Given the description of an element on the screen output the (x, y) to click on. 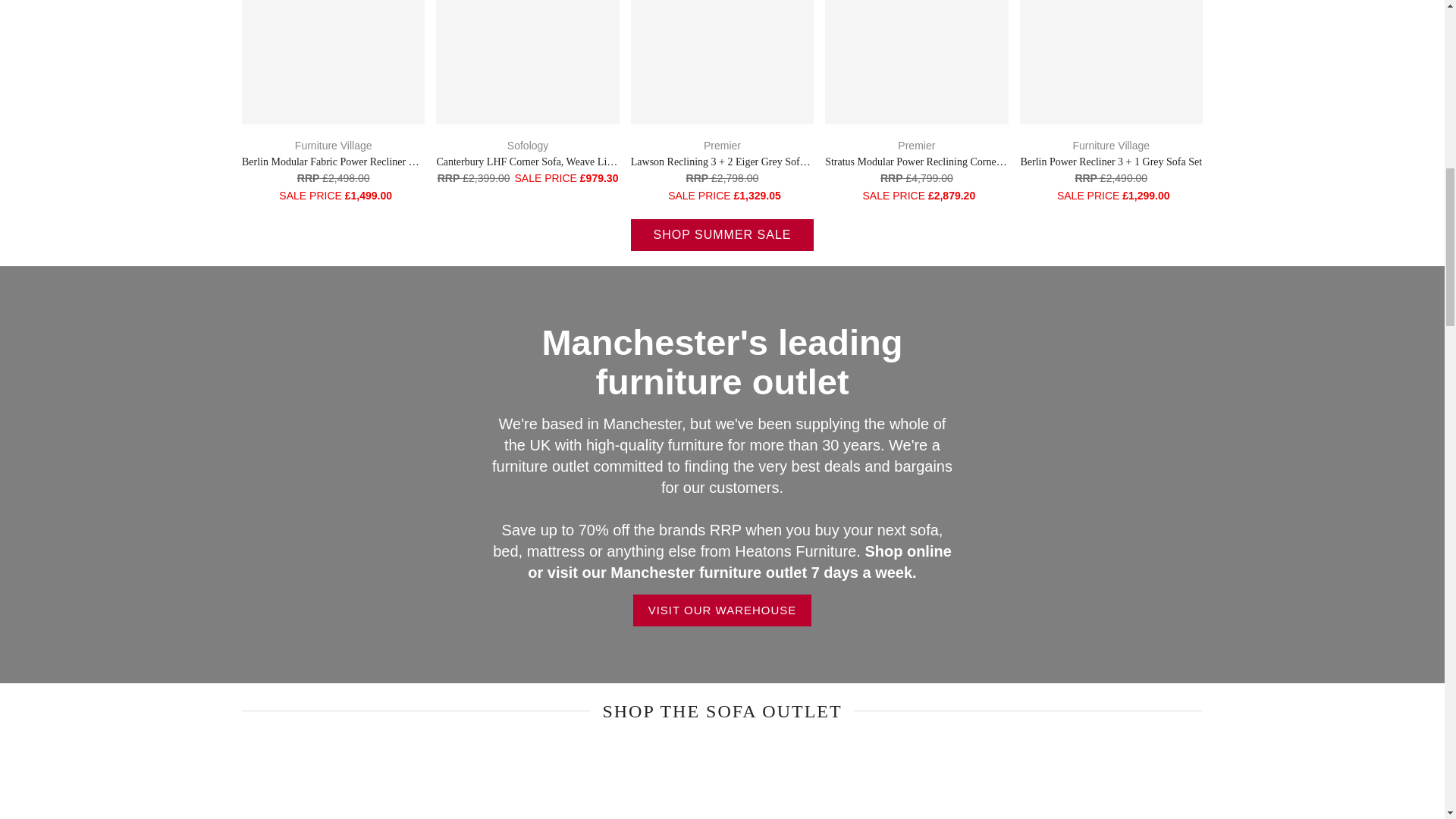
Sofology (527, 145)
Furniture Village (1110, 145)
Furniture Village (333, 145)
Berlin Modular Fabric Power Recliner Corner Sofa, Dark Grey (376, 161)
Premier (916, 145)
Premier (722, 145)
Canterbury LHF Corner Sofa, Weave Linen All Over (548, 161)
